Given the description of an element on the screen output the (x, y) to click on. 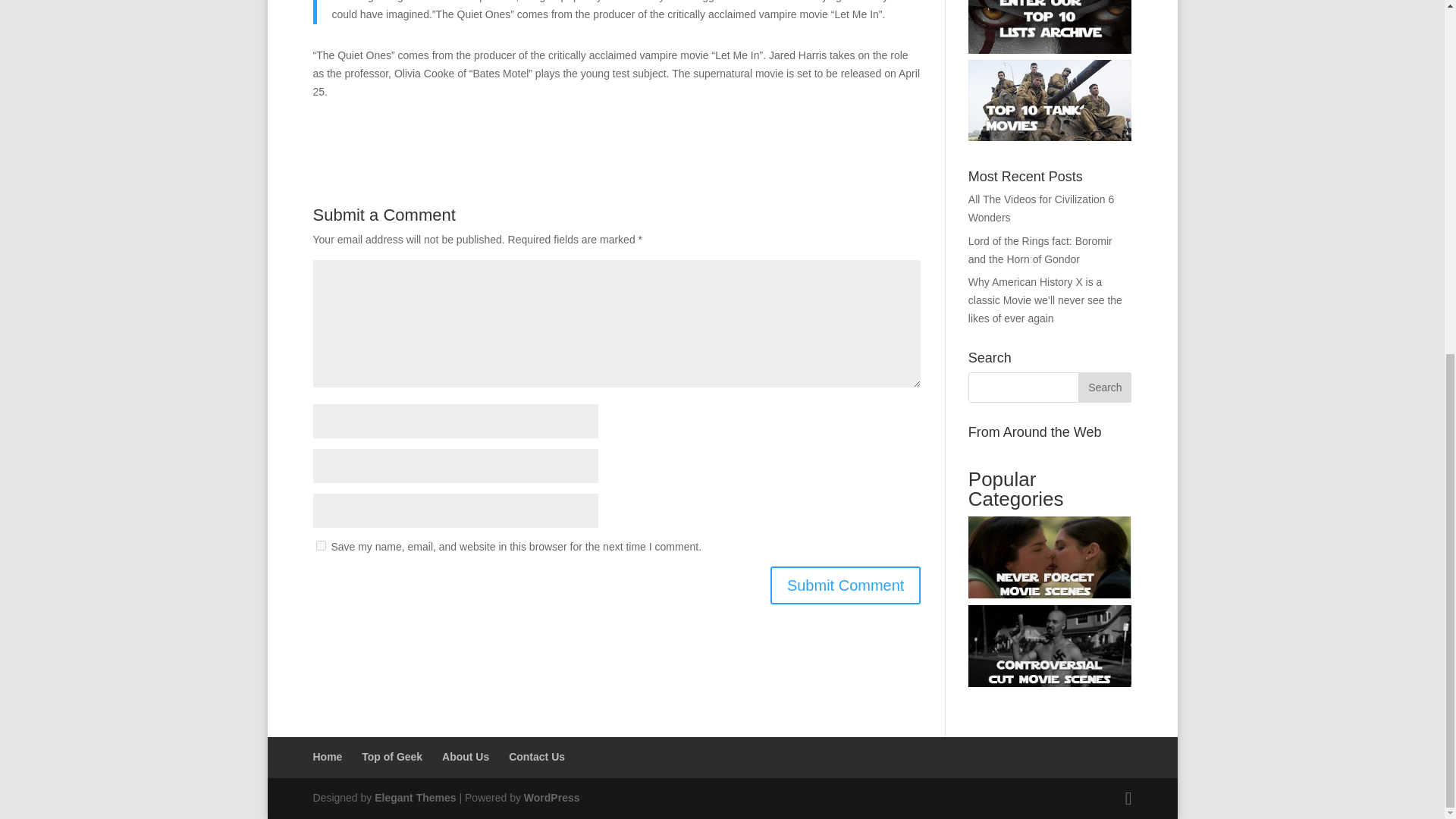
Search (1104, 387)
Submit Comment (845, 585)
Premium WordPress Themes (414, 797)
yes (319, 545)
